Given the description of an element on the screen output the (x, y) to click on. 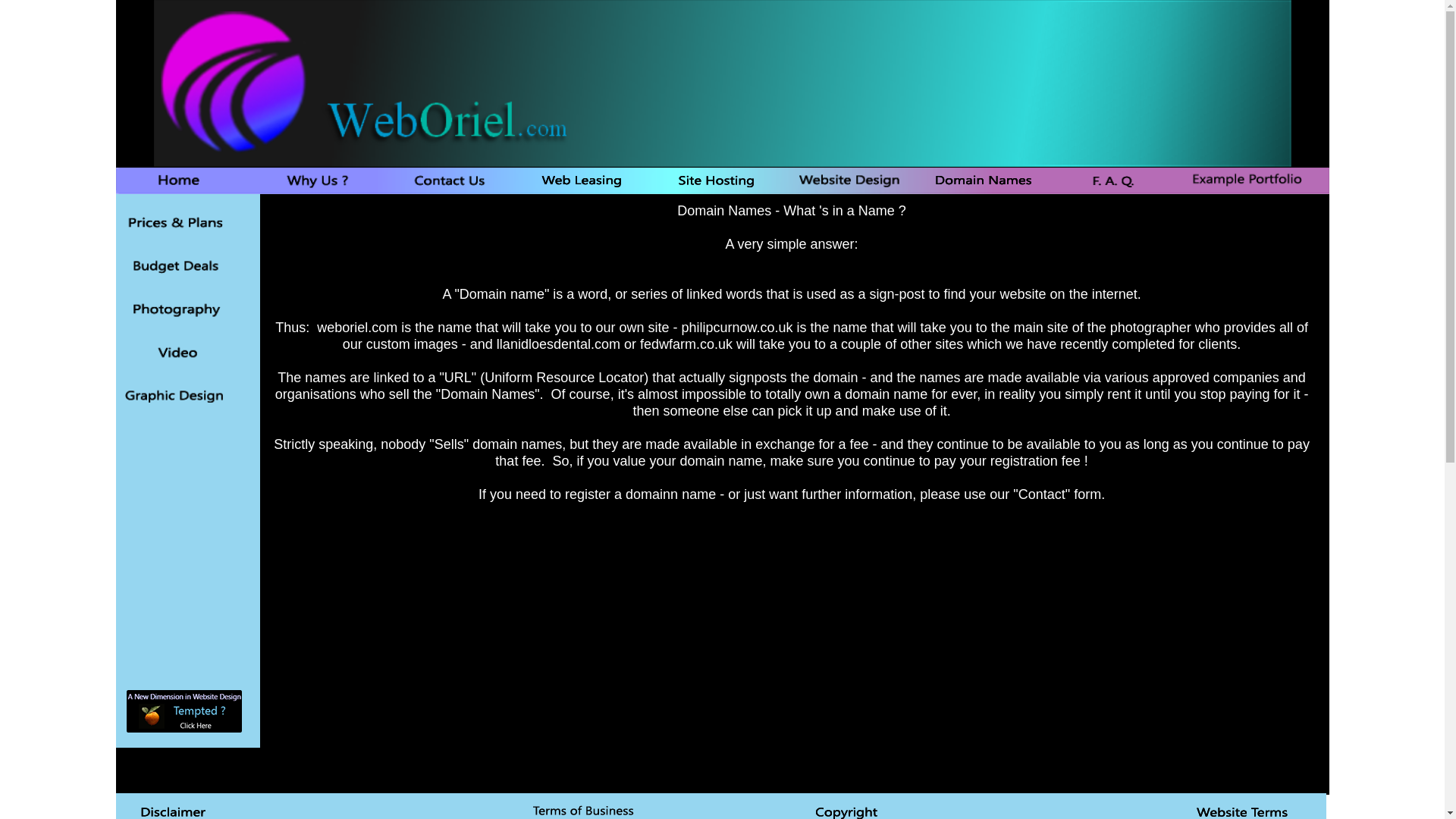
Reasons to chose affordable Web hosting and design services. (317, 180)
Click here to view our Disclaimer and Privacy information (177, 809)
Website copyright information (850, 809)
Terms of Business for Llanidloes Dental Practice (586, 809)
Click to return to Home Page of Weboriel Web Design (178, 180)
Budget Website Design (177, 265)
Website Terms of Use (1246, 809)
Click here for the full contact details of Weboriel (183, 711)
Graphic Design (177, 395)
Example Portfolio (1247, 180)
Follow this link for details of video used in websites (177, 352)
